Given the description of an element on the screen output the (x, y) to click on. 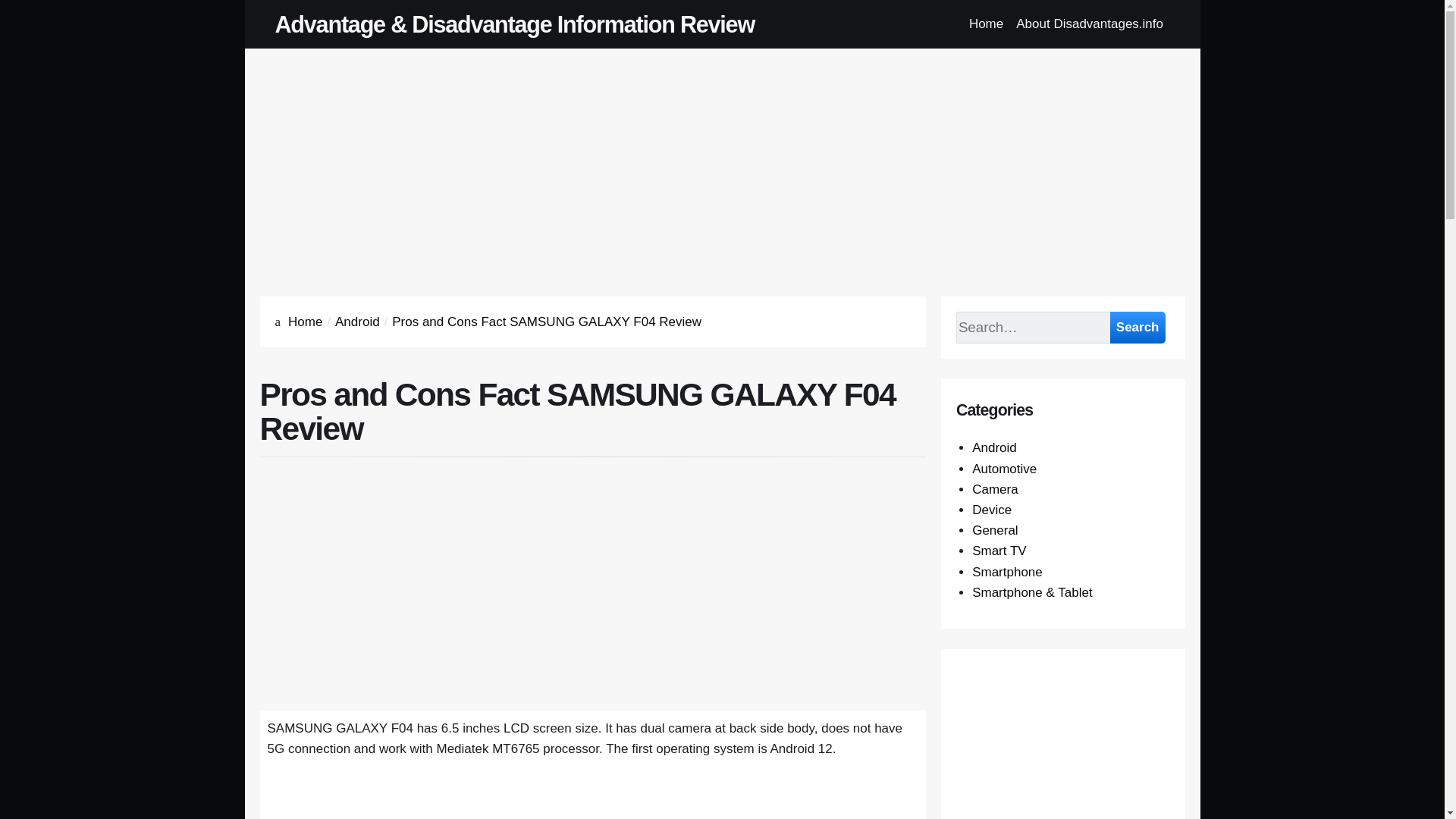
Smart TV (999, 550)
Search (1137, 327)
Android (357, 321)
About Disadvantages.info (1090, 24)
Pros and Cons Fact SAMSUNG GALAXY F04 Review (546, 321)
Home (304, 321)
Automotive (1004, 468)
Android (994, 447)
Camera (994, 489)
